Given the description of an element on the screen output the (x, y) to click on. 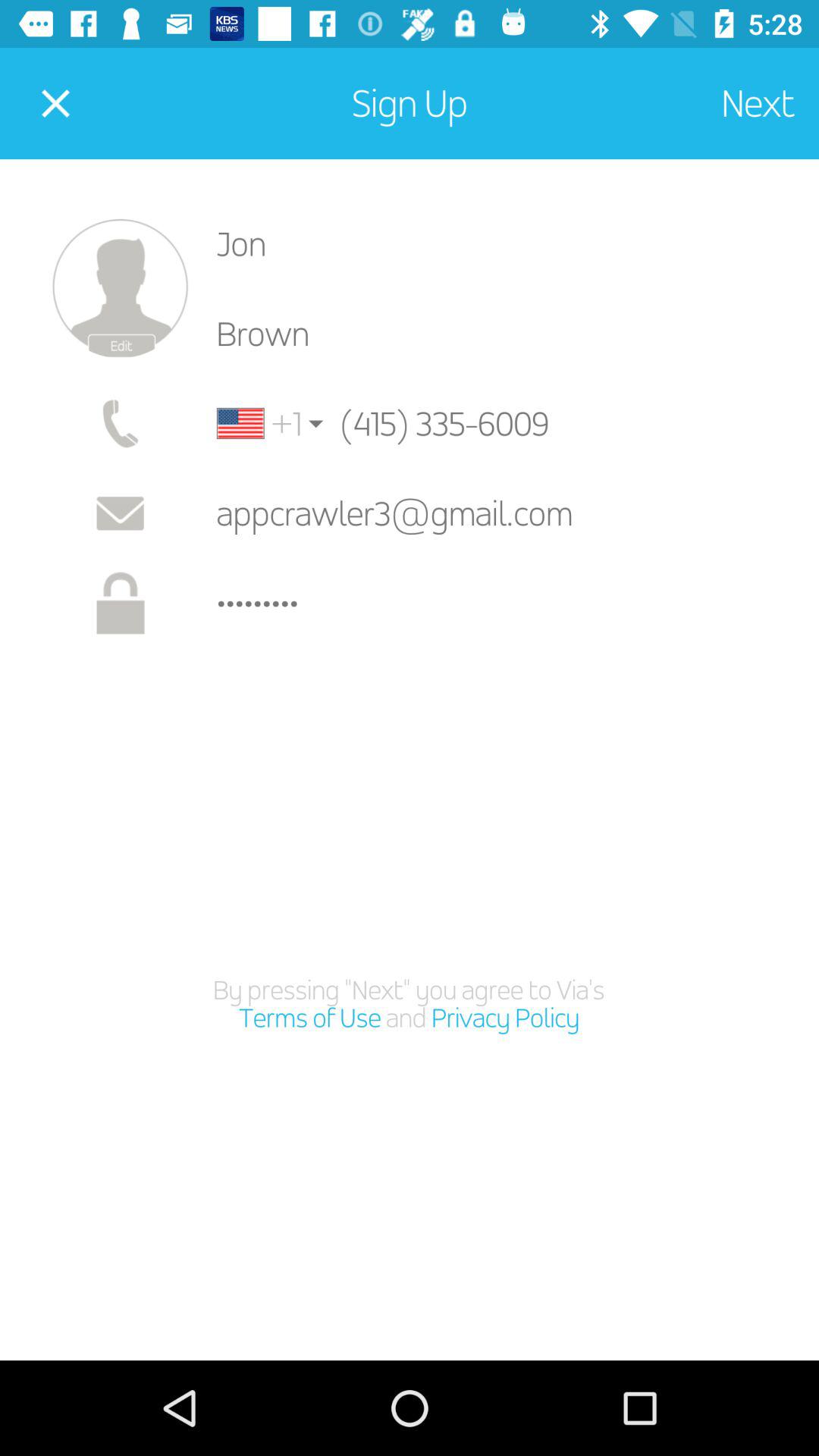
upload photo (119, 288)
